Given the description of an element on the screen output the (x, y) to click on. 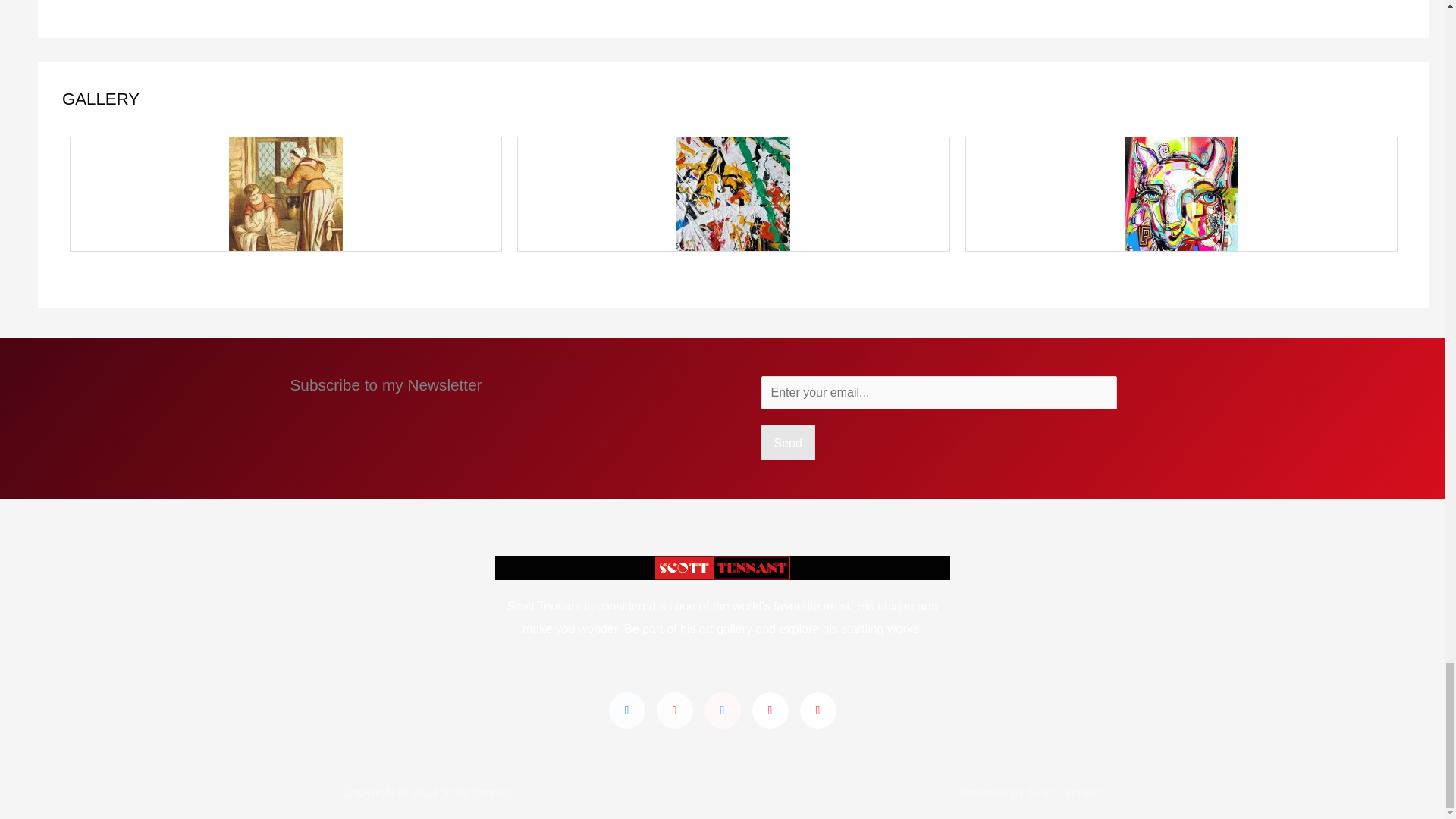
Send (788, 443)
Youtube (817, 710)
Facebook (626, 710)
Twitter (721, 710)
Instagram (770, 710)
Google-plus-g (674, 710)
